Given the description of an element on the screen output the (x, y) to click on. 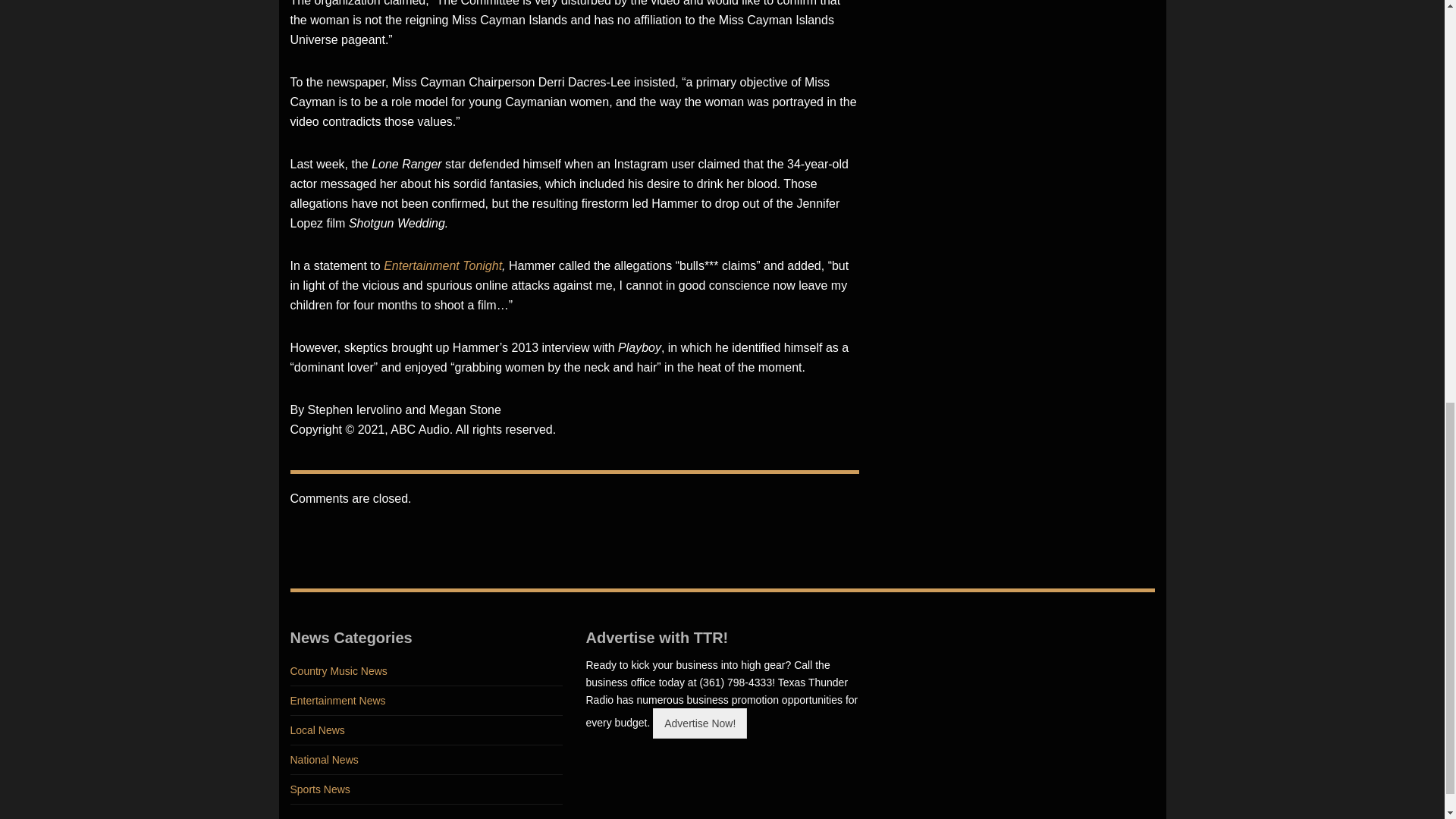
Advertise Now! (699, 722)
Entertainment Tonight (443, 265)
Sports News (425, 789)
Local News (425, 730)
National News (425, 759)
Entertainment News (425, 700)
Country Music News (425, 671)
Advertise Now! (699, 723)
